Given the description of an element on the screen output the (x, y) to click on. 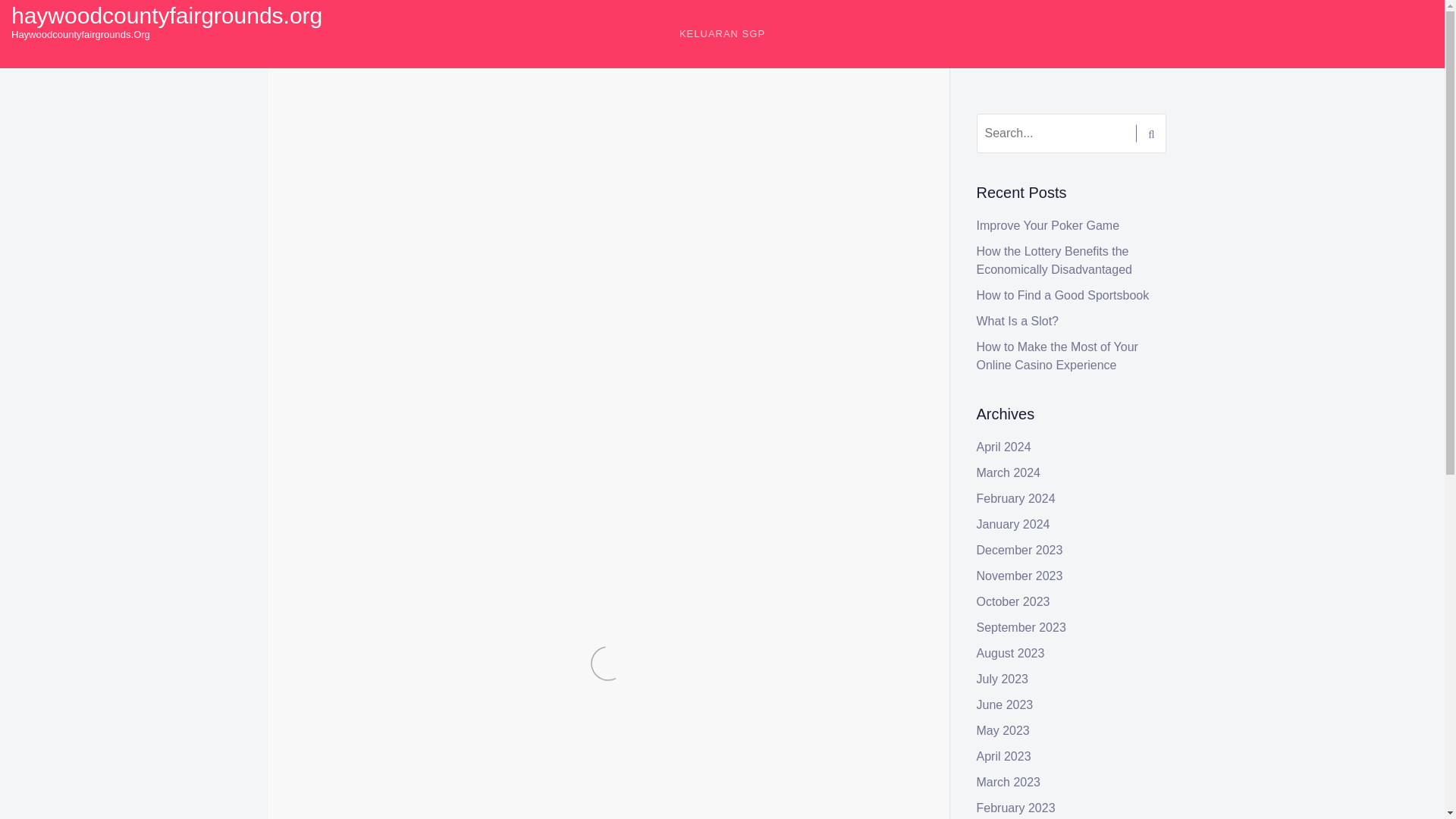
December 2023 (1019, 549)
What Is a Slot? (1017, 320)
June 2023 (1004, 704)
May 2023 (1002, 730)
July 2023 (1002, 678)
KELUARAN SGP (722, 33)
How to Make the Most of Your Online Casino Experience (1057, 355)
April 2023 (1003, 756)
September 2023 (1020, 626)
haywoodcountyfairgrounds.org (166, 15)
